Given the description of an element on the screen output the (x, y) to click on. 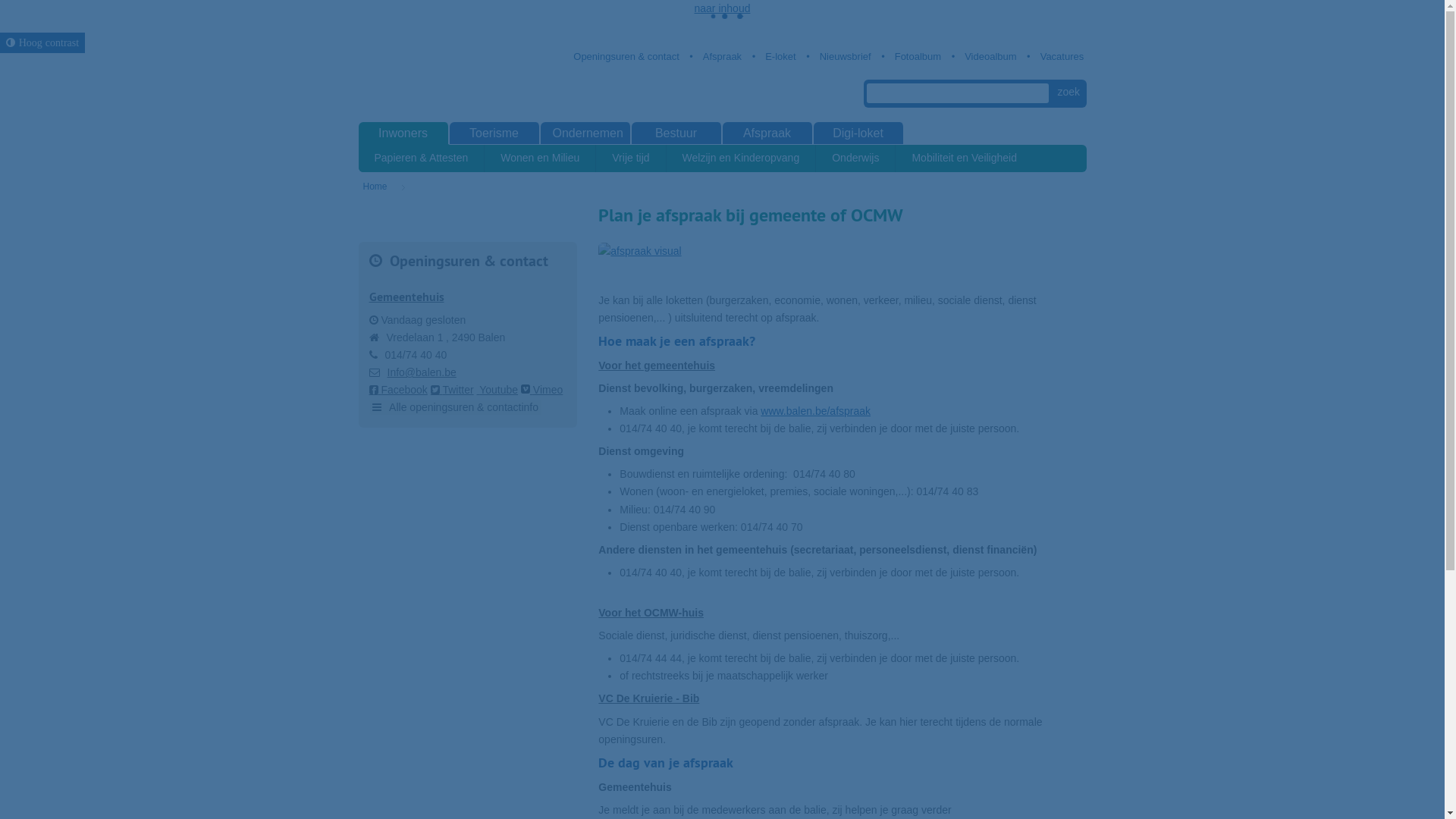
Hoog contrast Element type: text (42, 42)
afspraak visual (grote weergave) Element type: hover (841, 250)
Wonen en Milieu Element type: text (540, 158)
Facebook Element type: text (397, 389)
trefwoord Element type: hover (957, 93)
Afspraak Element type: text (715, 56)
Afspraak Element type: text (766, 133)
Fotoalbum Element type: text (910, 56)
Mobiliteit en Veiligheid Element type: text (963, 158)
Home Element type: text (388, 186)
Videoalbum Element type: text (983, 56)
Youtube Element type: text (497, 389)
Ondernemen Element type: text (584, 133)
Onderwijs Element type: text (855, 158)
zoek Element type: text (1068, 91)
www.balen.be/afspraak Element type: text (815, 410)
Welzijn en Kinderopvang Element type: text (741, 158)
Terug naar de homepage Element type: hover (440, 77)
Digi-loket Element type: text (857, 133)
Toerisme Element type: text (493, 133)
Papieren & Attesten Element type: text (420, 158)
naar inhoud Element type: text (722, 8)
Vacatures Element type: text (1055, 56)
Vimeo Element type: text (541, 389)
Bestuur Element type: text (675, 133)
Info@balen.be Element type: text (420, 372)
Openingsuren & contact Element type: text (626, 56)
Gemeentehuis Element type: text (405, 296)
Inwoners Element type: text (402, 133)
Vrije tijd Element type: text (630, 158)
Nieuwsbrief Element type: text (838, 56)
Twitter Element type: text (451, 389)
Alle openingsuren & contactinfo Element type: text (454, 407)
E-loket Element type: text (773, 56)
